Given the description of an element on the screen output the (x, y) to click on. 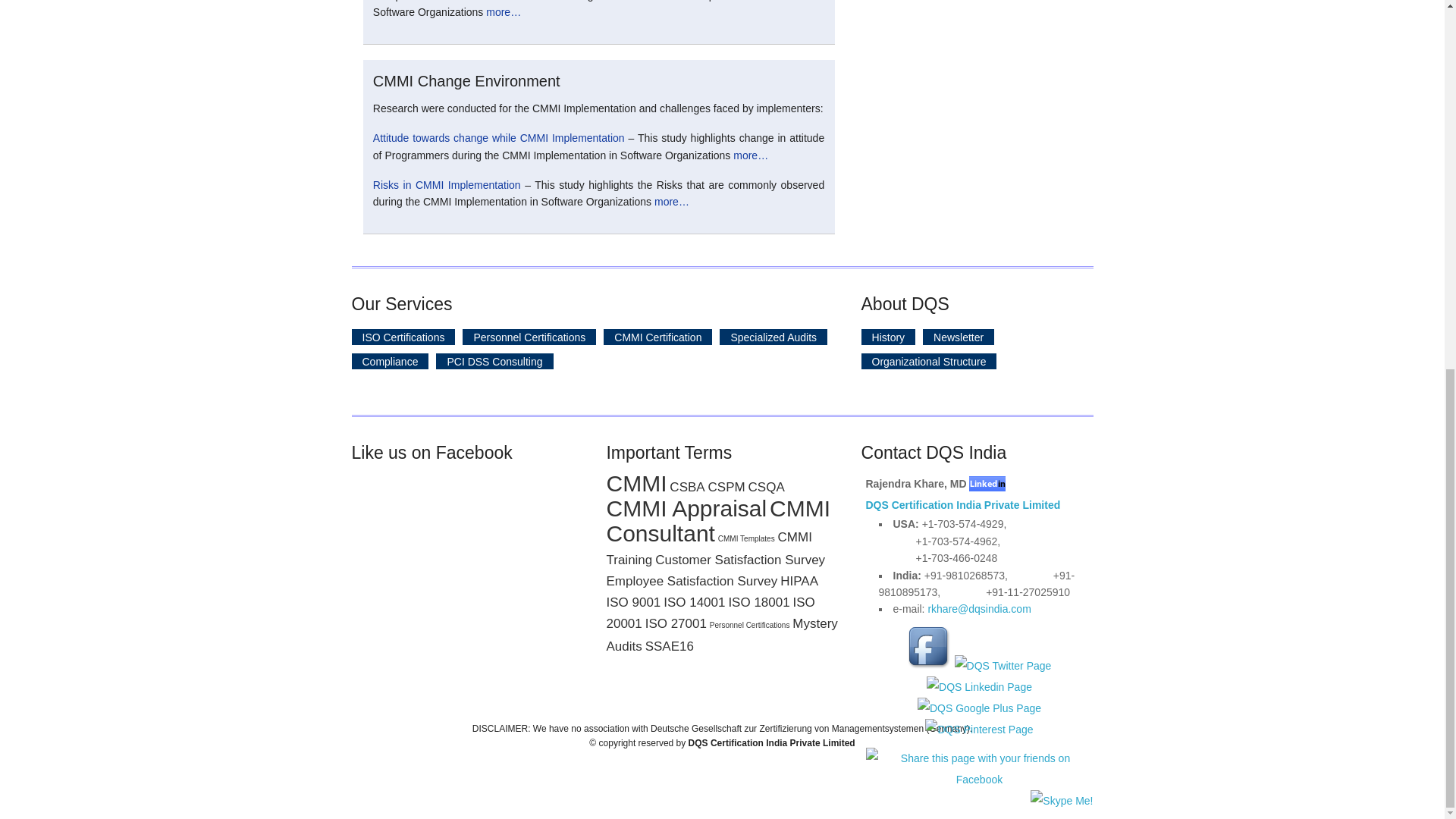
CMMI Consultant (717, 521)
CSPM (726, 486)
CMMI (635, 483)
CSBA (686, 486)
CMMI Templates (745, 538)
CMMI Appraisal (686, 508)
CMMI Training (707, 548)
Risks in CMMI Implementation (446, 184)
Customer Satisfaction Survey (740, 559)
PCI SSC Data Security Standards (494, 361)
CSQA (766, 486)
Employee Satisfaction Survey (691, 581)
Attitude towards change while CMMI Implementation (498, 137)
ISO 9001 (633, 602)
HIPAA (799, 581)
